Given the description of an element on the screen output the (x, y) to click on. 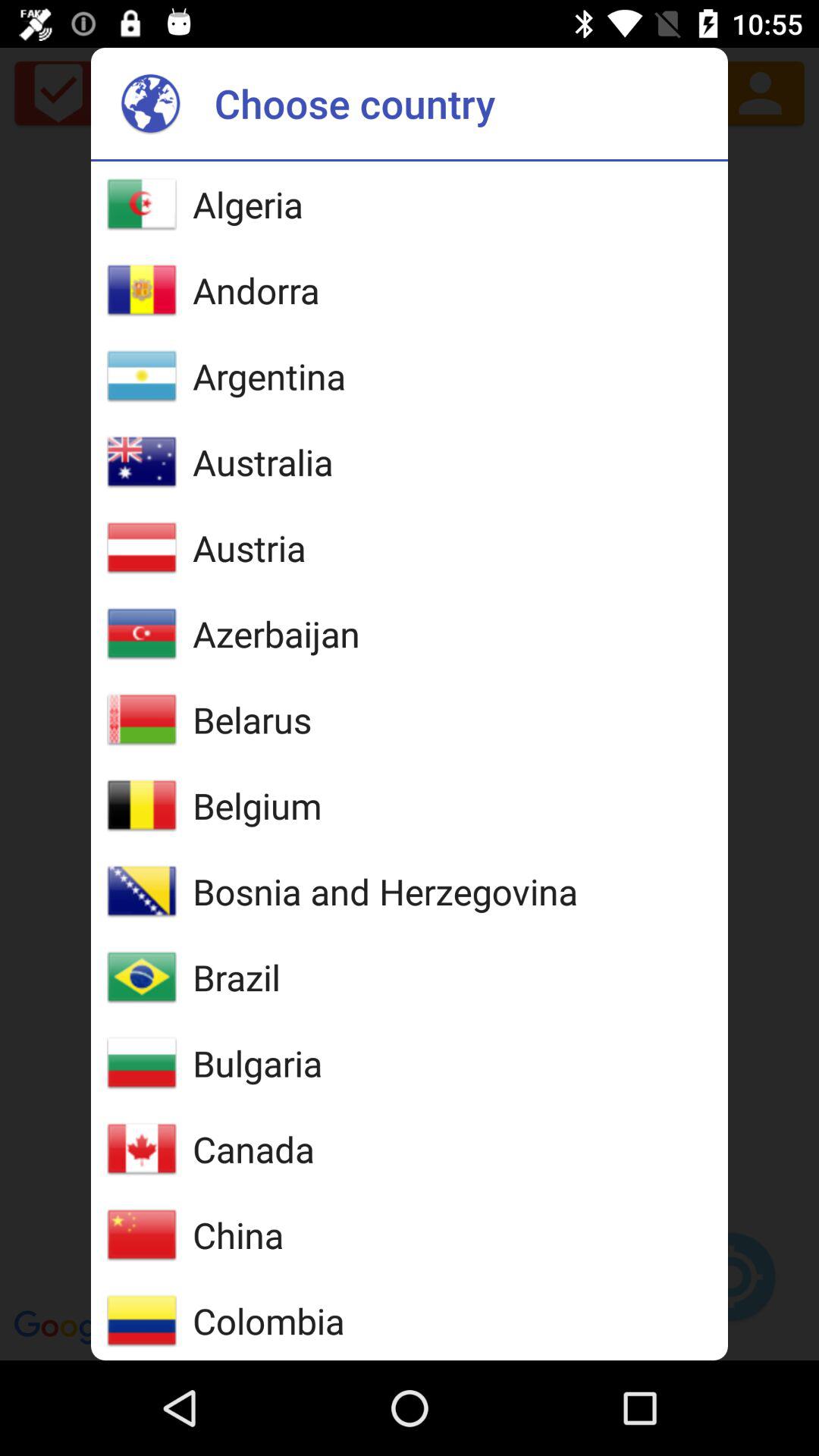
turn off canada (253, 1148)
